Given the description of an element on the screen output the (x, y) to click on. 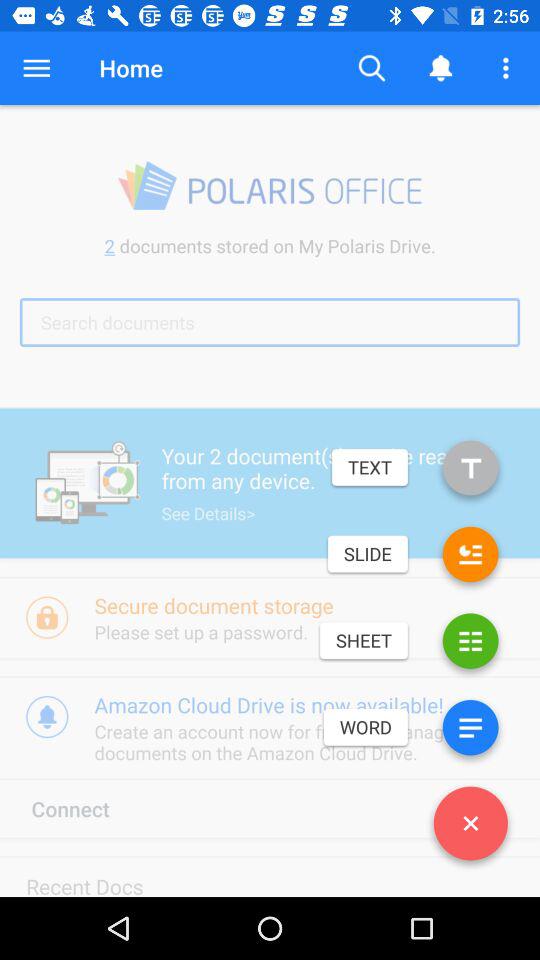
select word file option (470, 731)
